Given the description of an element on the screen output the (x, y) to click on. 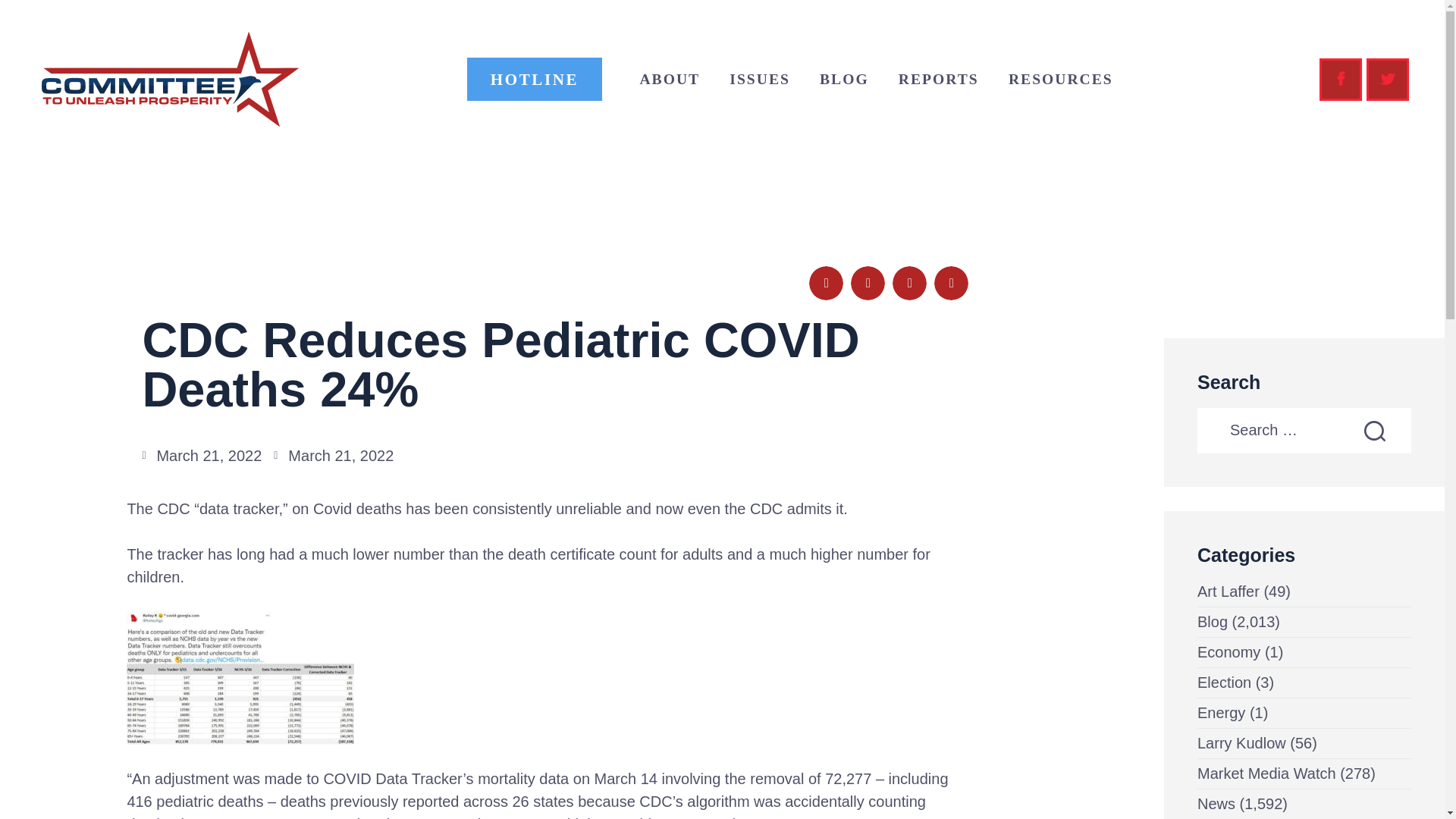
HOTLINE (534, 78)
BLOG (844, 78)
ABOUT (669, 78)
March 21, 2022 (201, 455)
REPORTS (937, 78)
ISSUES (759, 78)
Search (1389, 430)
RESOURCES (1059, 78)
March 21, 2022 (333, 455)
Search (1389, 430)
